Given the description of an element on the screen output the (x, y) to click on. 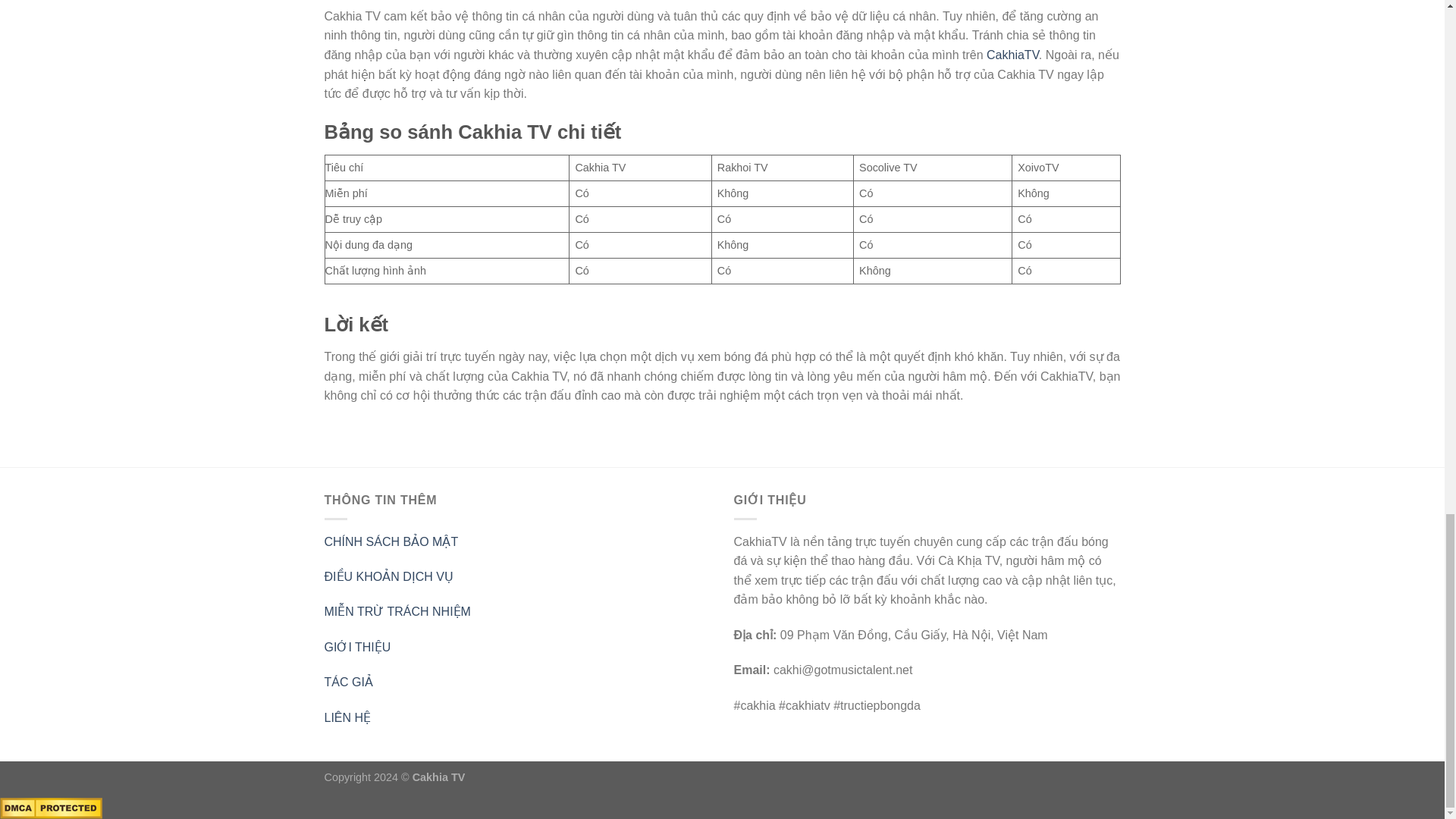
CakhiaTV (1013, 54)
DMCA.com Protection Status (50, 807)
